Given the description of an element on the screen output the (x, y) to click on. 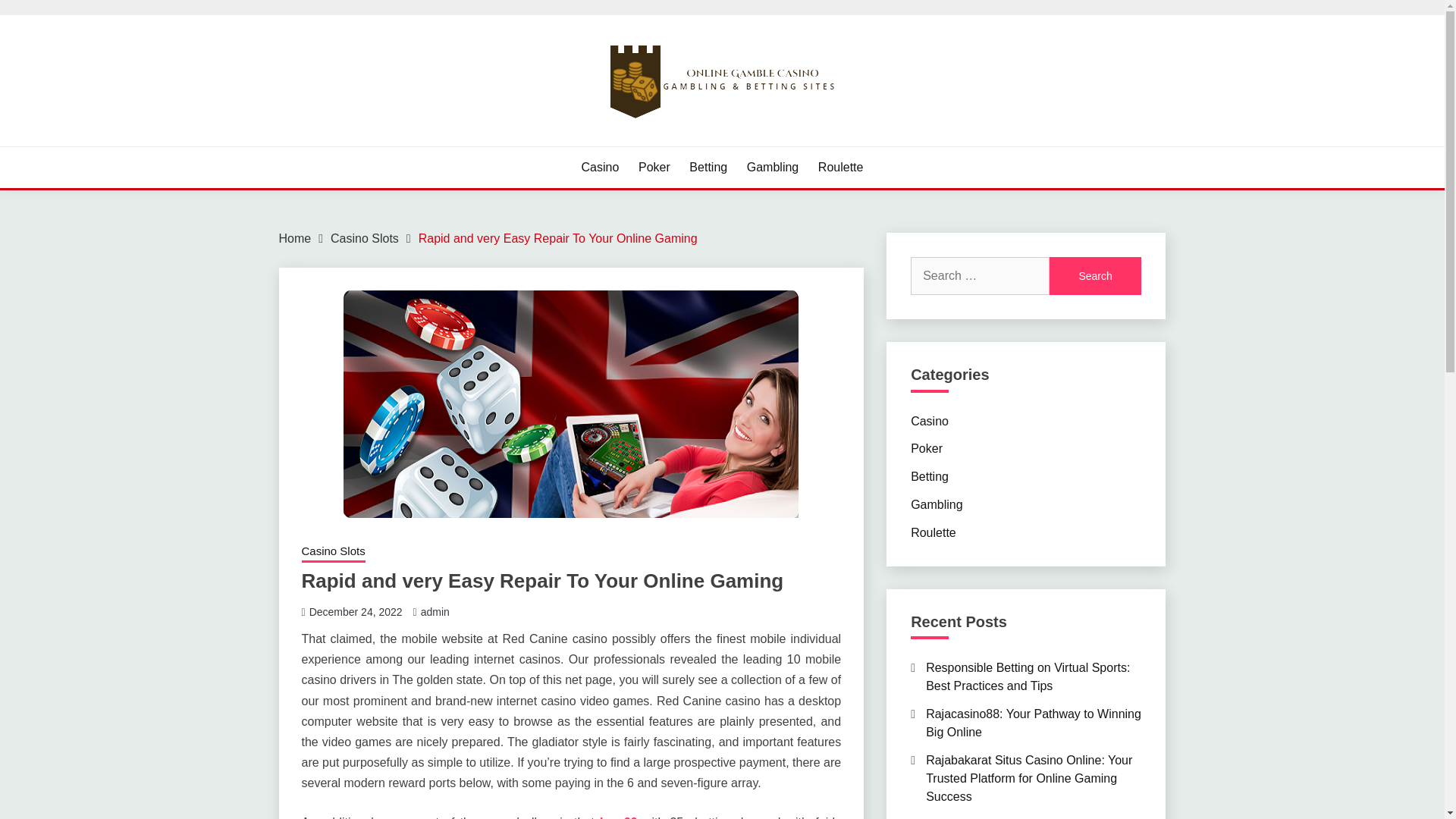
Roulette (840, 167)
Home (295, 237)
Poker (654, 167)
Search (1095, 275)
Casino Slots (333, 552)
Betting (930, 476)
admin (434, 612)
Casino (930, 420)
Search (1095, 275)
Rajacasino88: Your Pathway to Winning Big Online (1033, 722)
Gambling (936, 504)
ONLINE GAMBLE CASINO (453, 143)
